Given the description of an element on the screen output the (x, y) to click on. 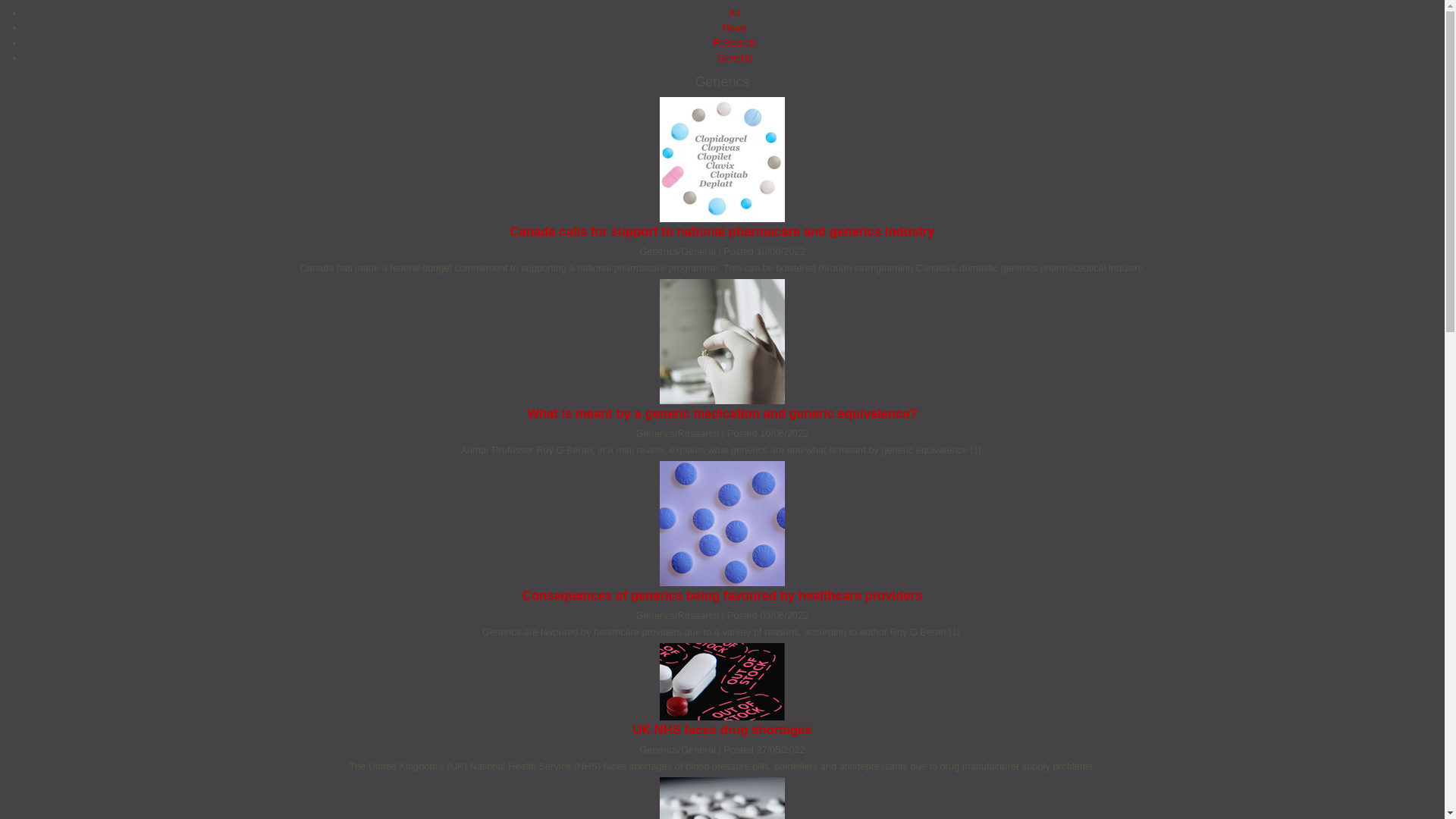
28 MD002360 (721, 798)
27 MD002442 (721, 523)
UK NHS faces drug shortages (721, 729)
76 MD002337 (721, 341)
Research (734, 42)
News (733, 27)
General (734, 57)
Drug shortages 3 V13k14 (721, 681)
GaBIJ 2012-2 Cover V12F28VK (721, 159)
All (734, 12)
